Given the description of an element on the screen output the (x, y) to click on. 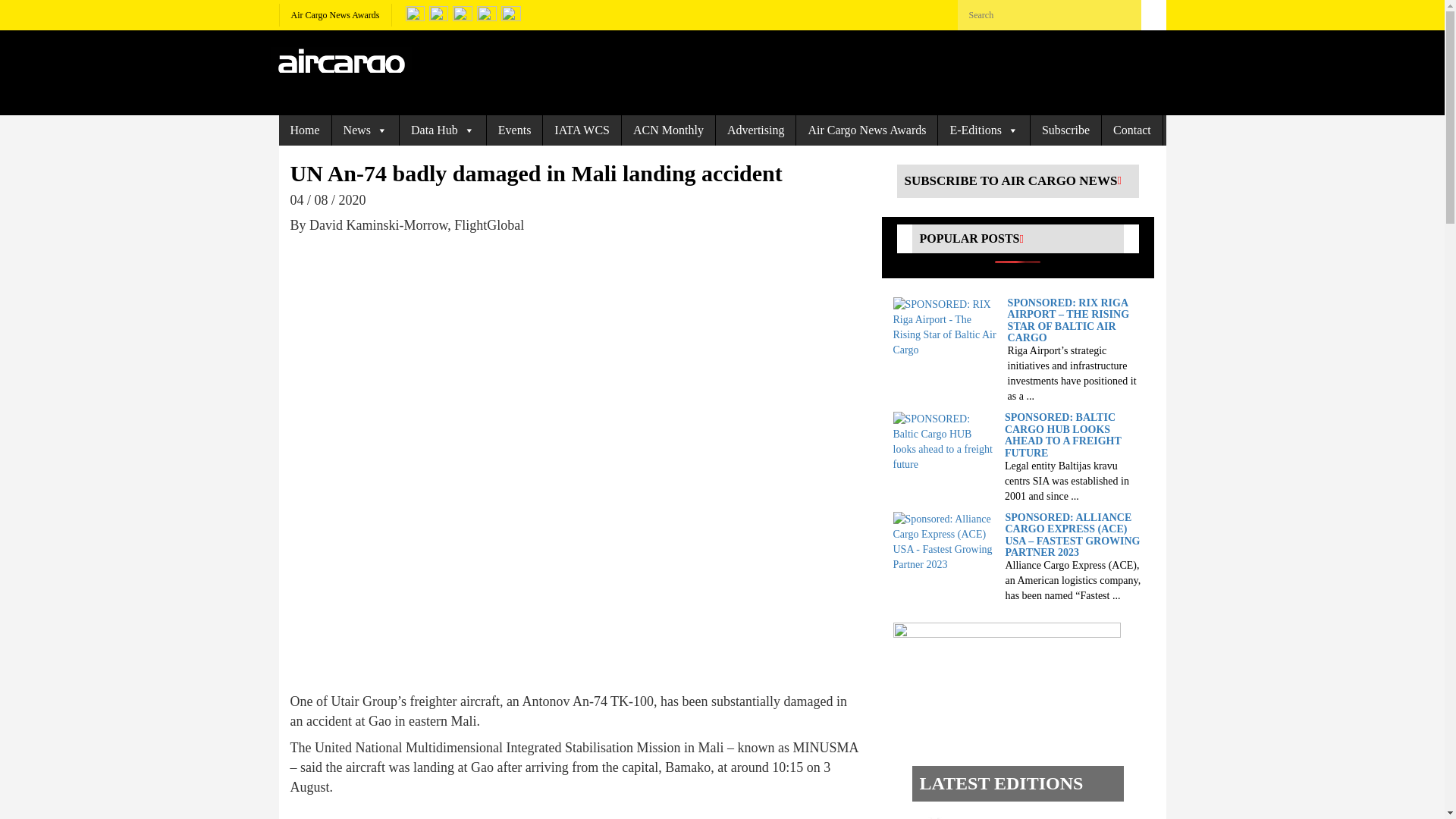
Home (305, 130)
Air Cargo News Issue 906 -Summer 2024 (1002, 816)
News (364, 130)
SPONSORED: Baltic Cargo HUB looks ahead to a freight future (945, 441)
Air Cargo News Awards (335, 14)
